Given the description of an element on the screen output the (x, y) to click on. 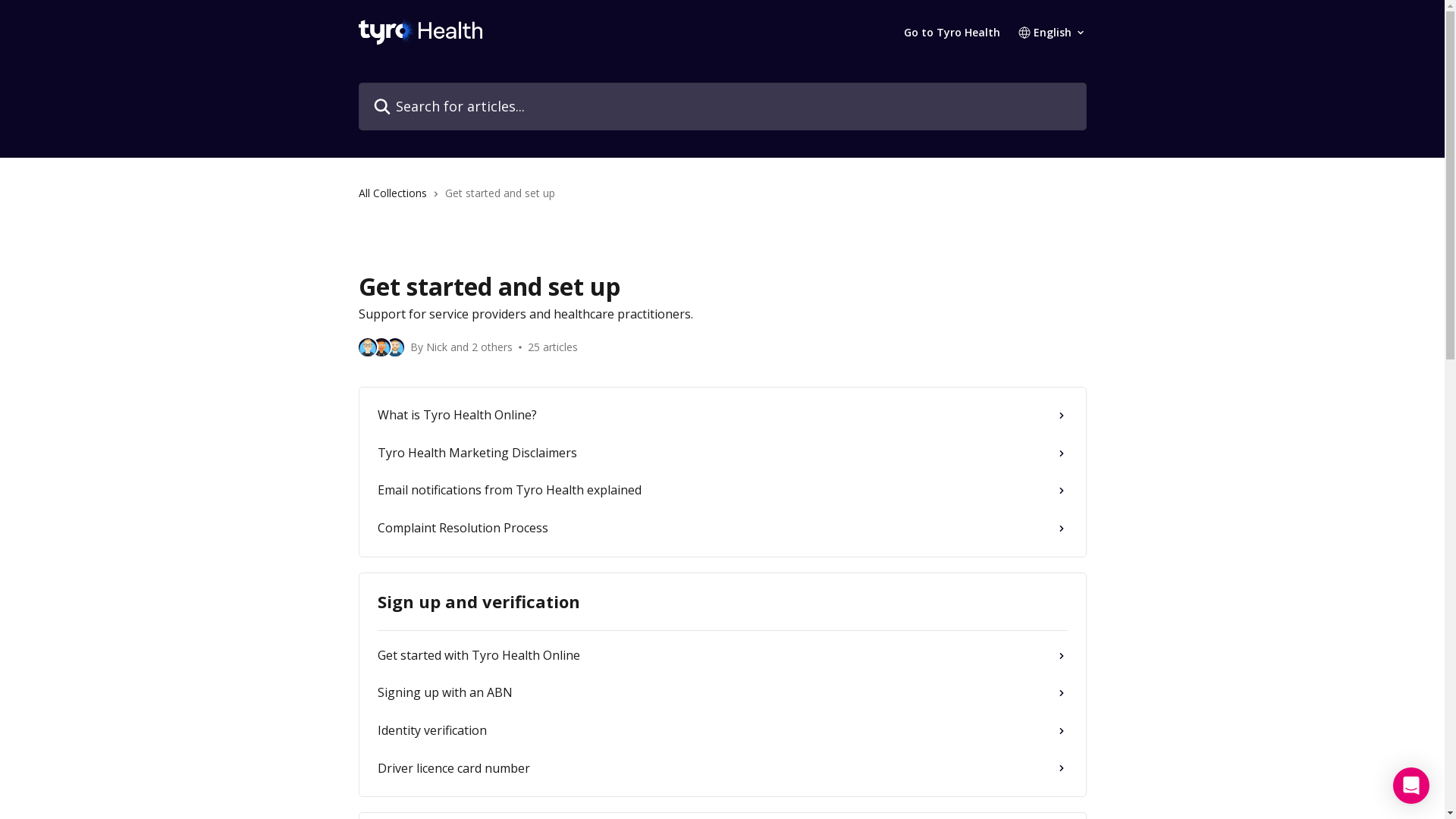
Go to Tyro Health Element type: text (951, 32)
What is Tyro Health Online? Element type: text (722, 415)
Identity verification Element type: text (722, 730)
Driver licence card number Element type: text (722, 768)
Email notifications from Tyro Health explained Element type: text (722, 490)
Tyro Health Marketing Disclaimers Element type: text (722, 453)
Signing up with an ABN Element type: text (722, 693)
Sign up and verification Element type: text (722, 601)
Get started with Tyro Health Online Element type: text (722, 655)
Complaint Resolution Process Element type: text (722, 528)
All Collections Element type: text (394, 193)
